Given the description of an element on the screen output the (x, y) to click on. 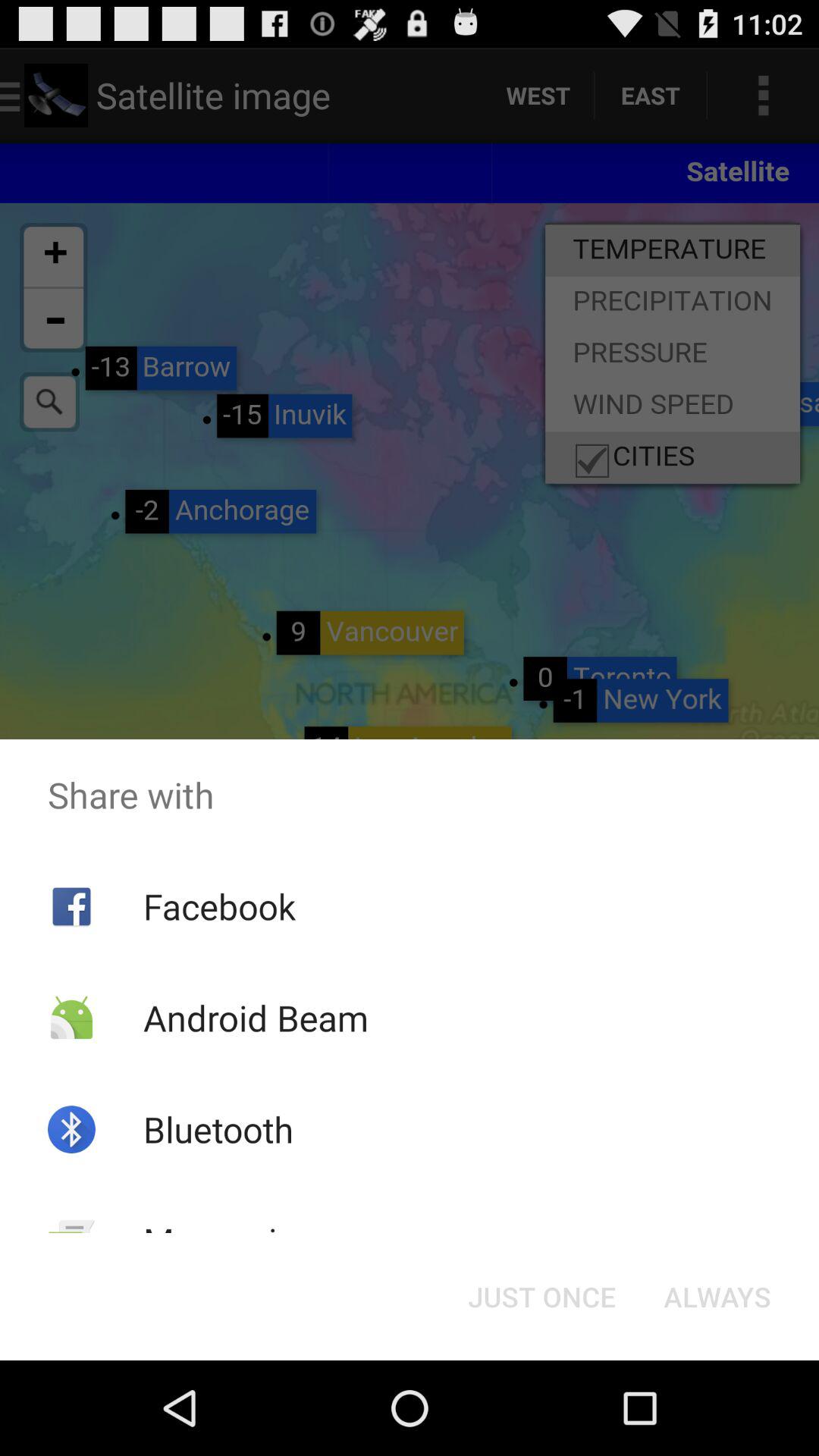
tap the item below share with icon (541, 1296)
